Given the description of an element on the screen output the (x, y) to click on. 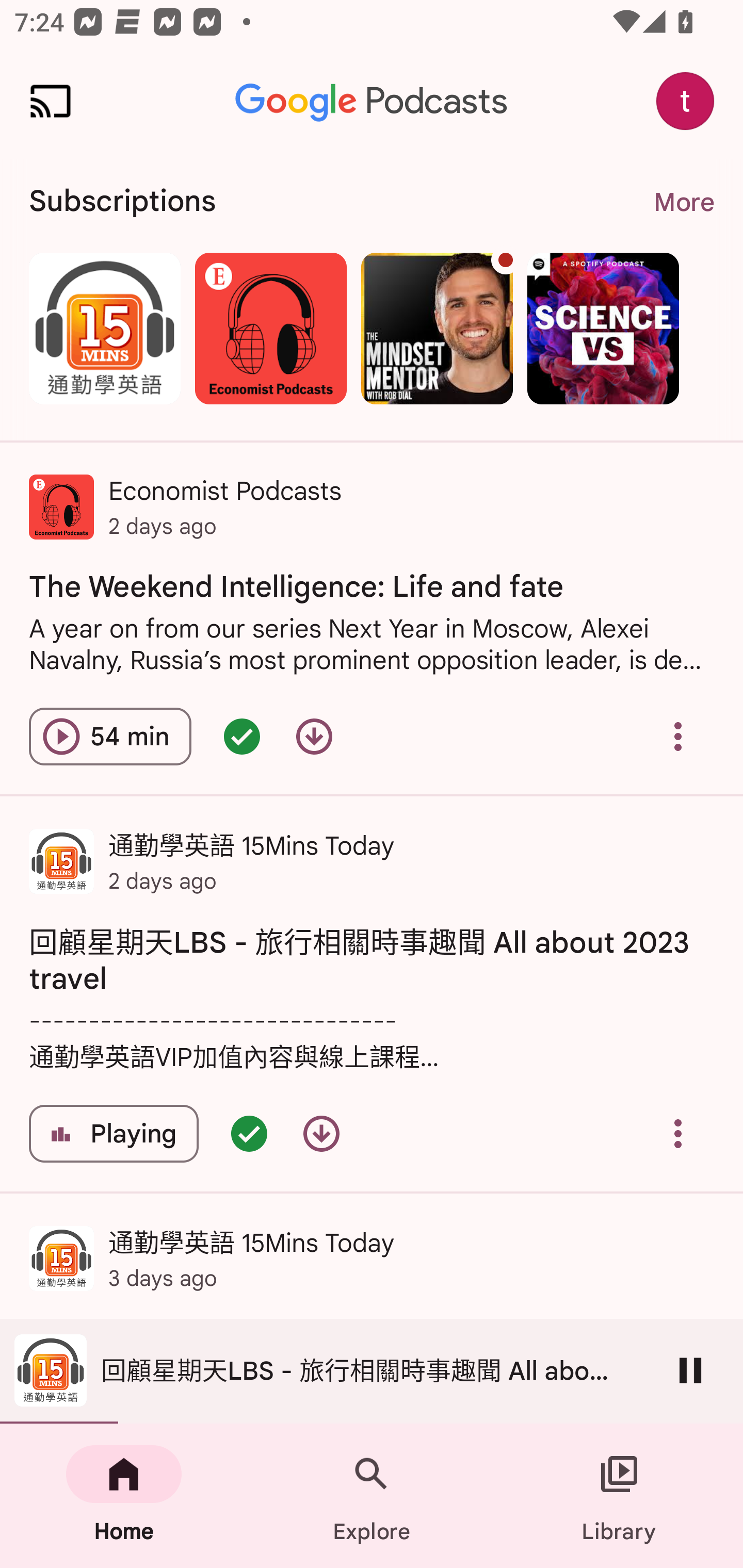
Cast. Disconnected (50, 101)
More More. Navigate to subscriptions page. (683, 202)
通勤學英語 15Mins Today (104, 328)
Economist Podcasts (270, 328)
The Mindset Mentor (436, 328)
Science Vs (603, 328)
Episode queued - double tap for options (241, 736)
Download episode (313, 736)
Overflow menu (677, 736)
Episode queued - double tap for options (249, 1133)
Download episode (321, 1133)
Overflow menu (677, 1133)
Pause (690, 1370)
Explore (371, 1495)
Library (619, 1495)
